Given the description of an element on the screen output the (x, y) to click on. 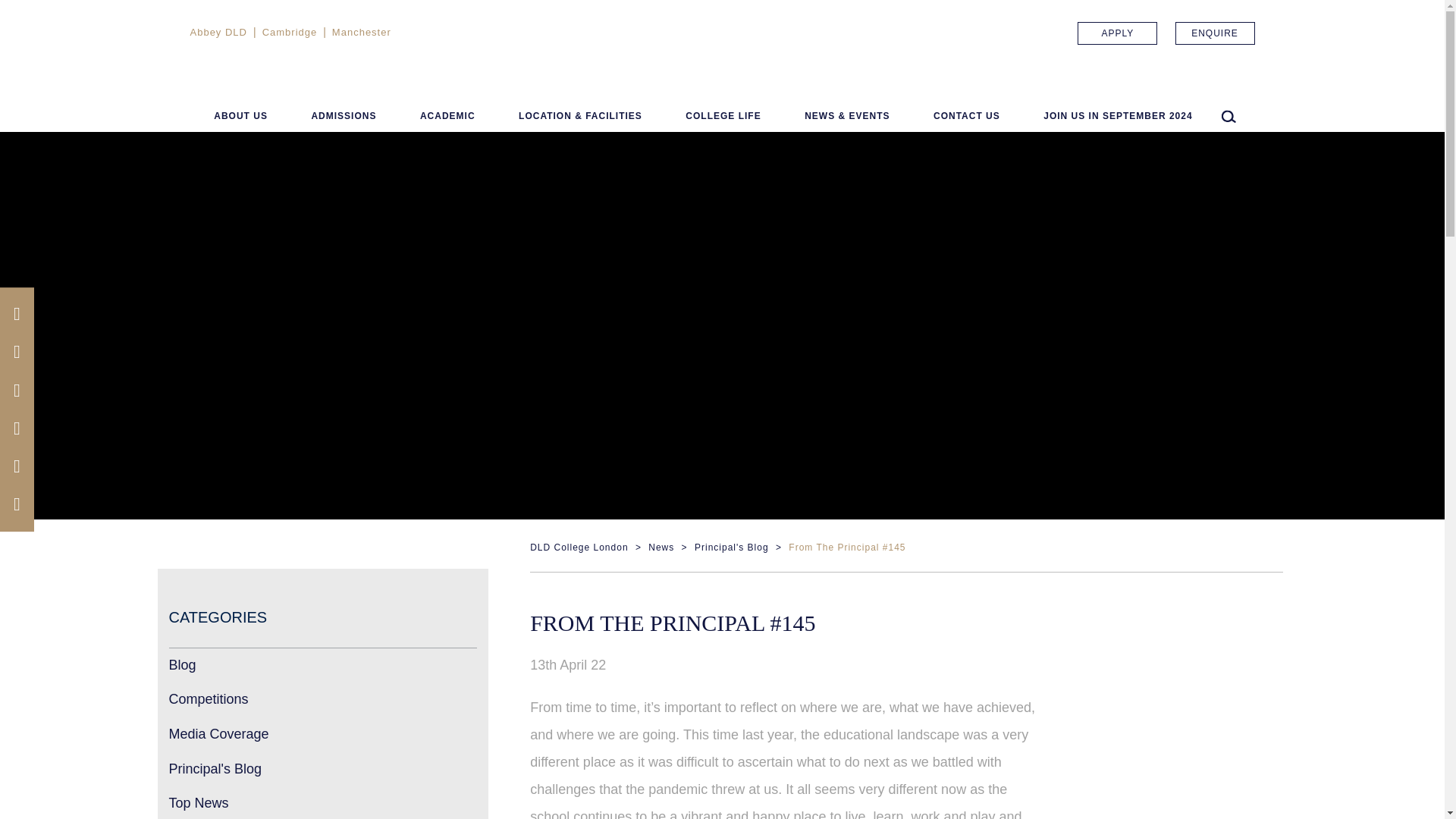
Go to News. (660, 547)
ADMISSIONS (343, 117)
Go to DLD College London. (578, 547)
Manchester (361, 32)
ENQUIRE (1214, 33)
Cambridge (289, 32)
Abbey DLD (217, 32)
APPLY (1117, 33)
ABOUT US (240, 117)
Go to the Principal's Blog category archives. (731, 547)
